Given the description of an element on the screen output the (x, y) to click on. 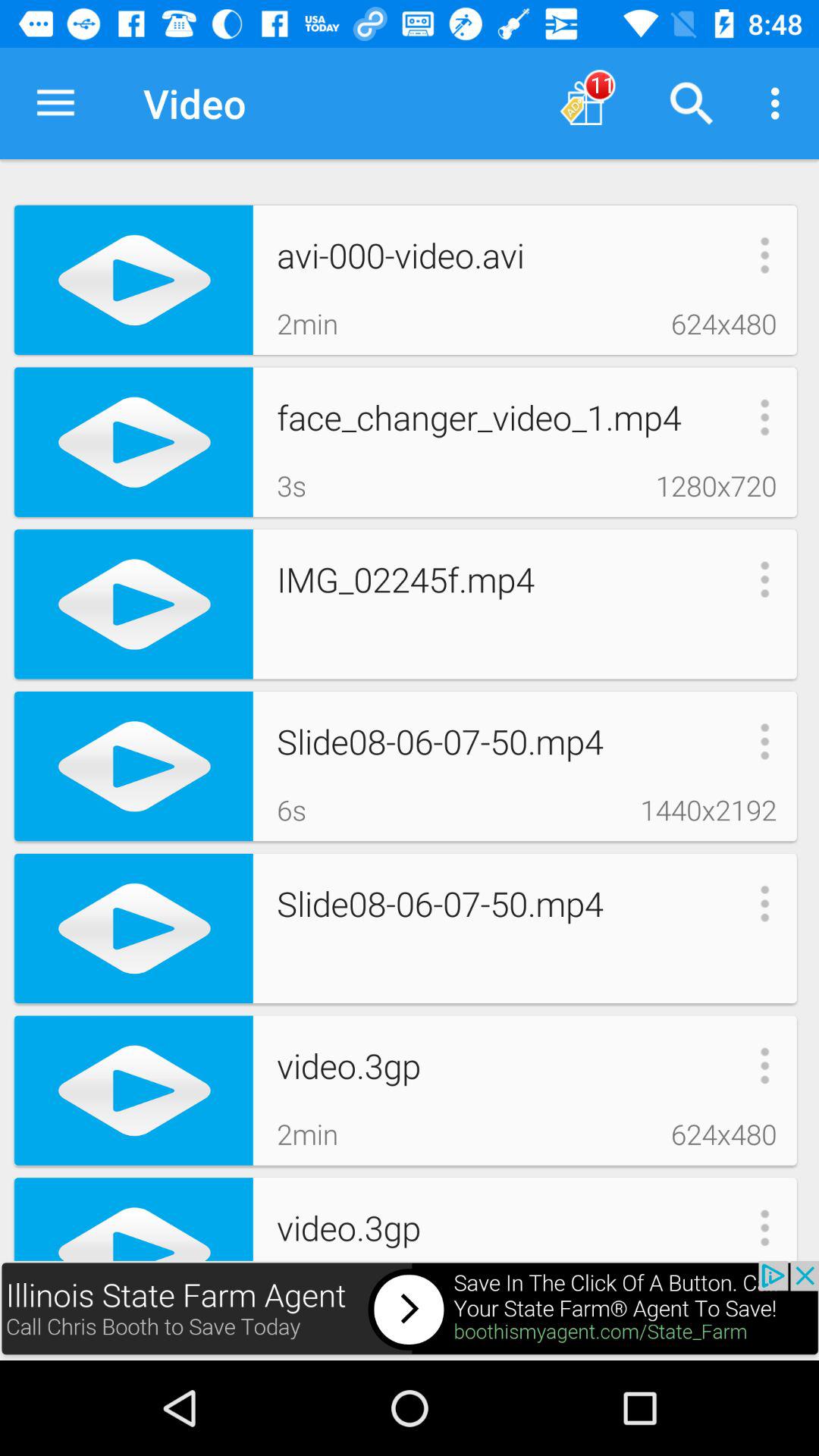
open advertisement (409, 1310)
